Given the description of an element on the screen output the (x, y) to click on. 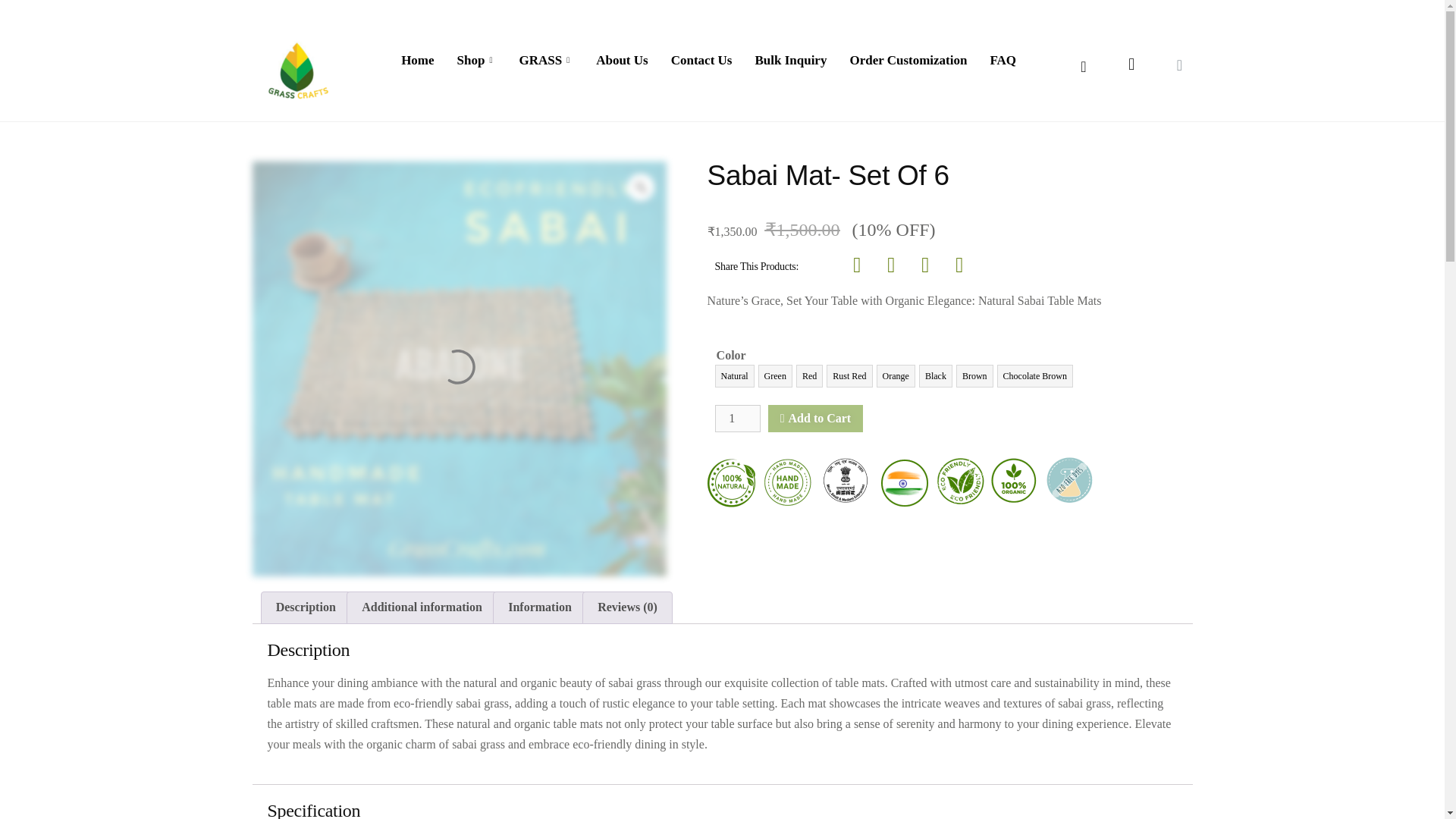
Natural (734, 375)
1 (738, 418)
Chocolate Brown (1035, 375)
Black (935, 375)
Orange (895, 375)
Red (809, 375)
Green (775, 375)
Brown (974, 375)
Rust Red (849, 375)
